Given the description of an element on the screen output the (x, y) to click on. 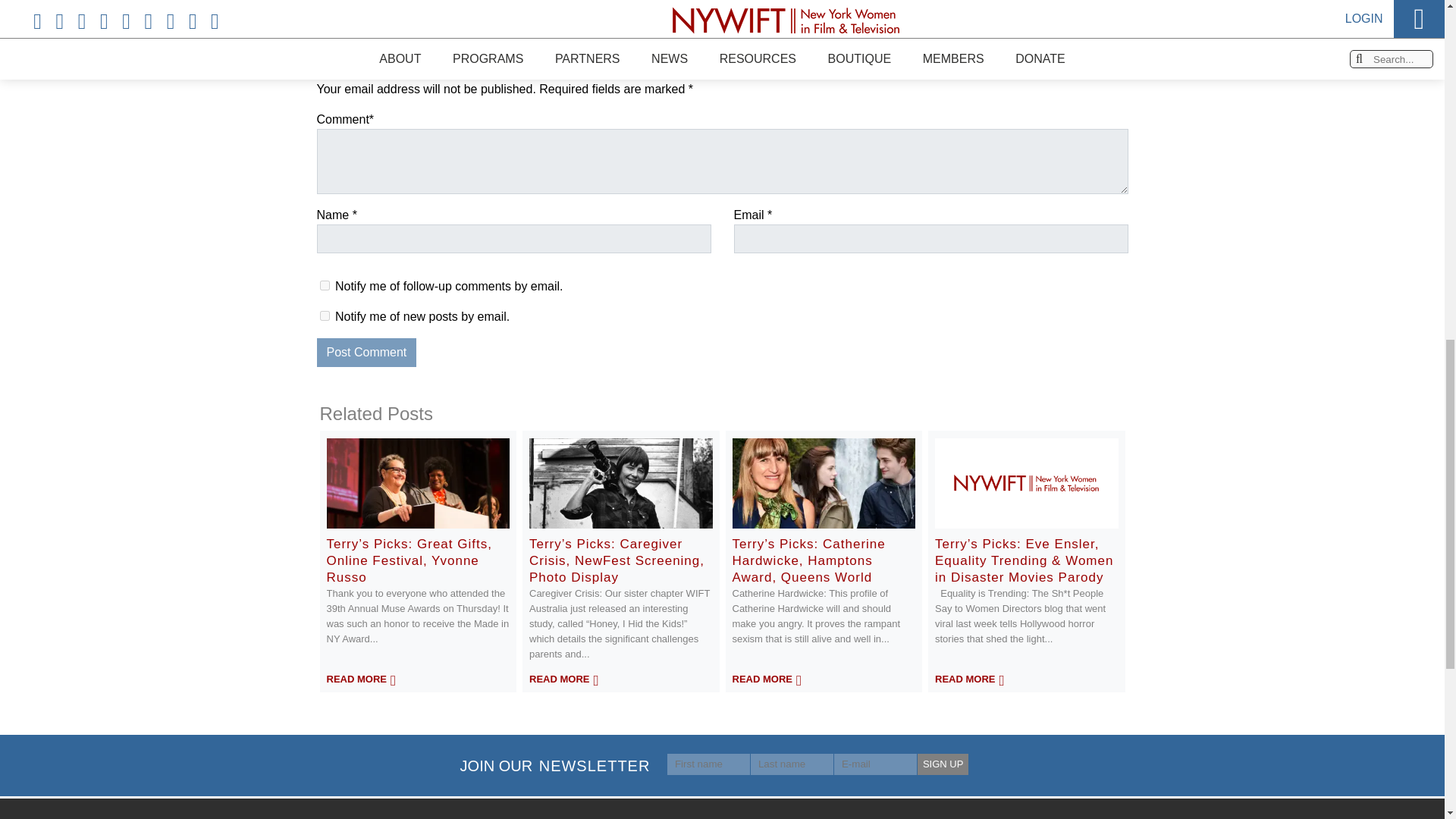
subscribe (325, 285)
Post Comment (366, 352)
subscribe (325, 316)
